Given the description of an element on the screen output the (x, y) to click on. 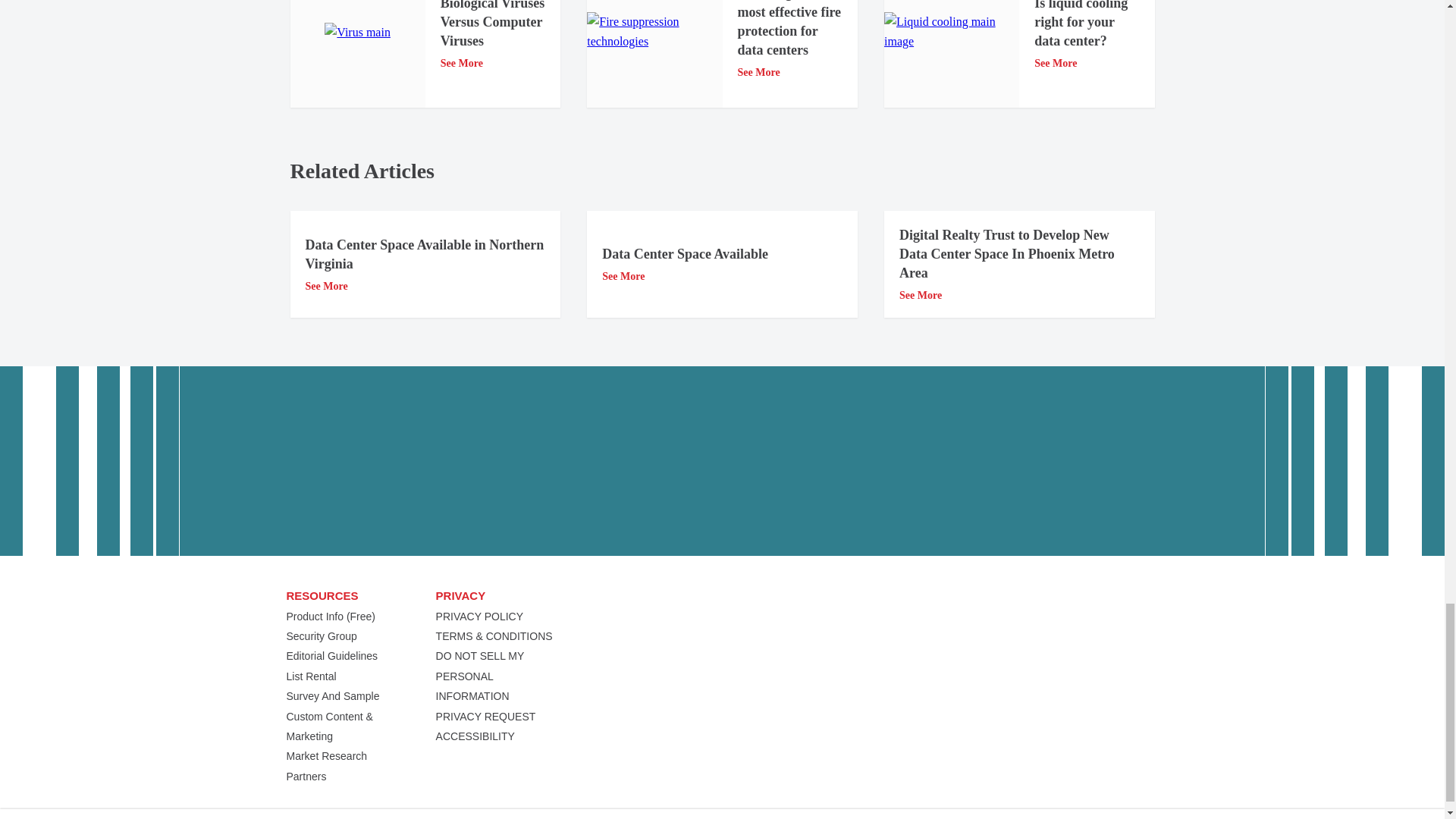
Virus main (357, 32)
Fire suppression technologies (654, 32)
Liquid cooling main image (951, 32)
